Given the description of an element on the screen output the (x, y) to click on. 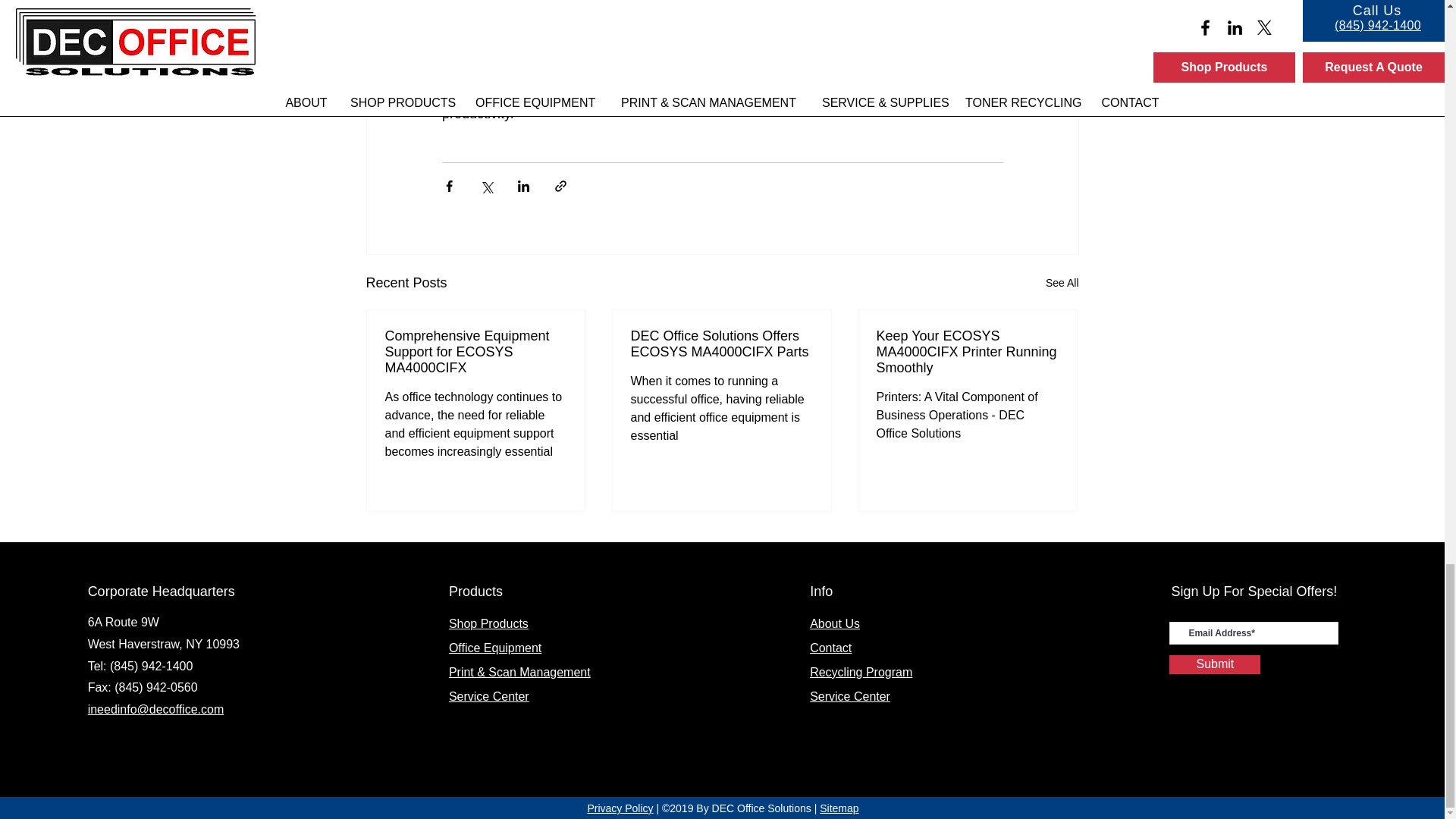
Contact (830, 647)
Sitemap (839, 808)
Keep Your ECOSYS MA4000CIFX Printer Running Smoothly (967, 351)
Recycling Program (860, 671)
DEC Office Solutions Offers ECOSYS MA4000CIFX Parts (721, 344)
Privacy Policy (619, 808)
Service Center (849, 696)
Office Equipment (494, 647)
Submit (1214, 664)
Comprehensive Equipment Support for ECOSYS MA4000CIFX (476, 351)
About Us (834, 623)
Service Center (488, 696)
See All (1061, 282)
Shop Products (488, 623)
